Given the description of an element on the screen output the (x, y) to click on. 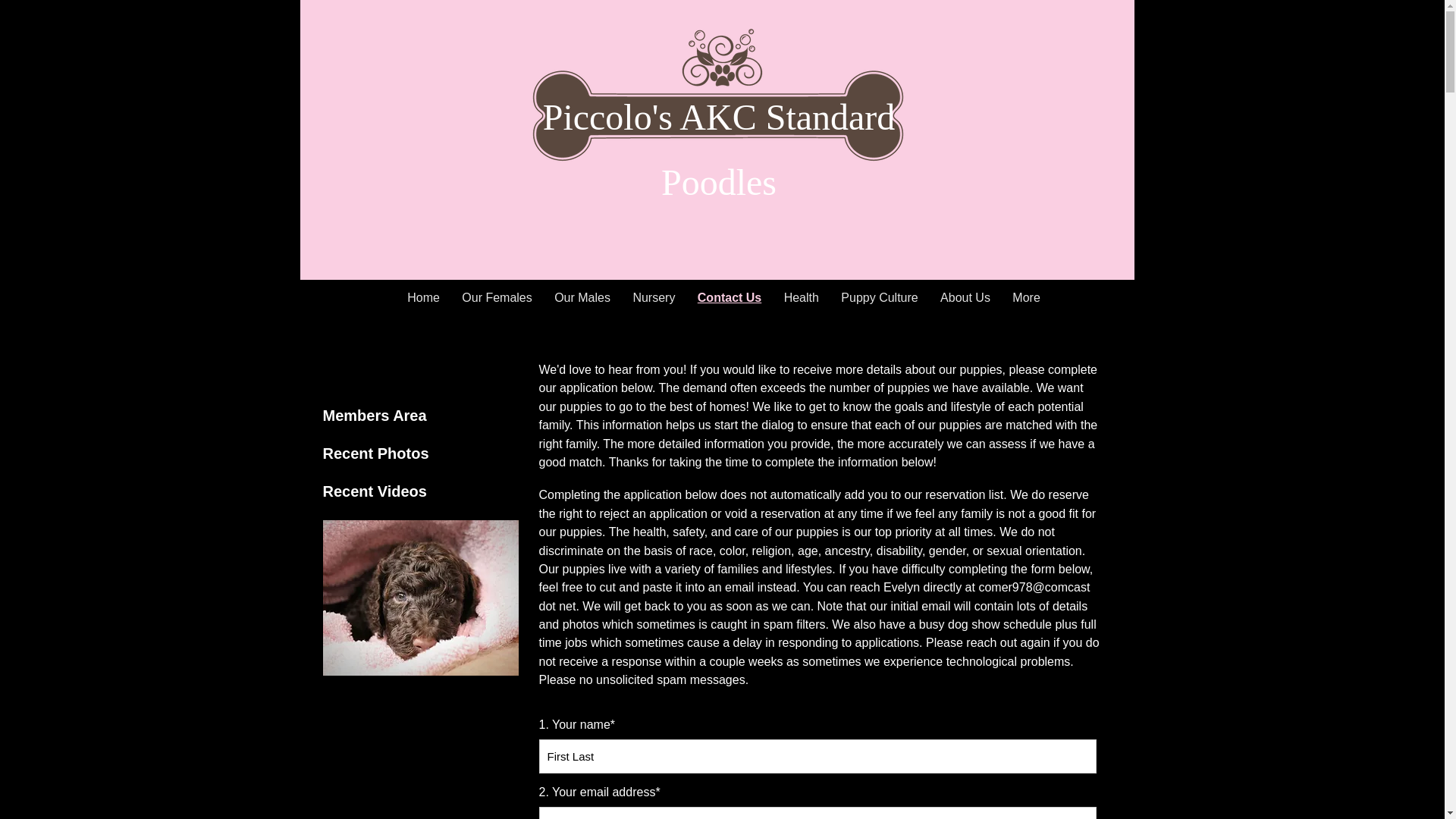
Contact Us (729, 297)
More (1026, 297)
Nursery (653, 297)
Our Males (582, 297)
Health (801, 297)
Home (422, 297)
Our Females (497, 297)
About Us (964, 297)
Puppy Culture (879, 297)
